Given the description of an element on the screen output the (x, y) to click on. 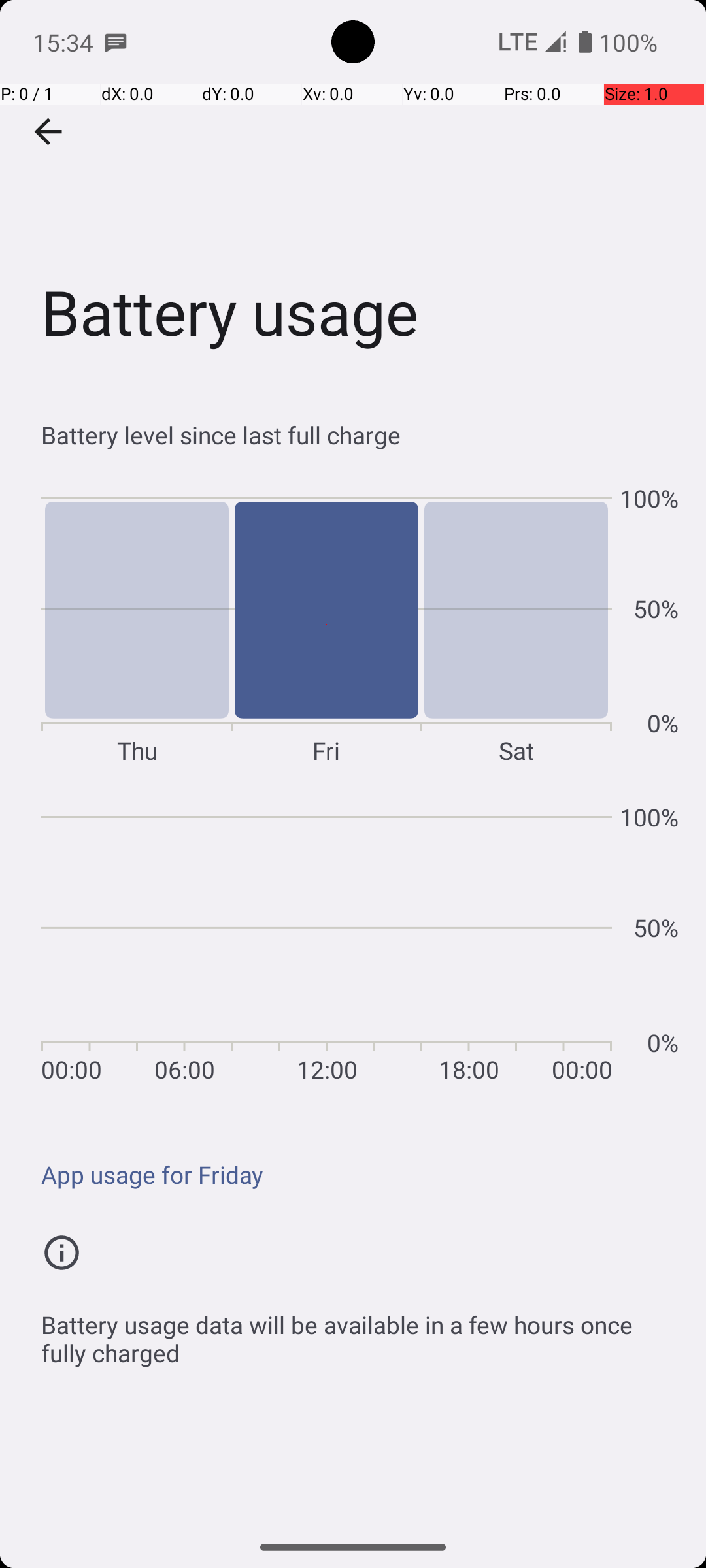
Battery level since last full charge Element type: android.widget.TextView (359, 434)
App usage for Friday Element type: android.widget.TextView (359, 1174)
Battery usage data will be available in a few hours once fully charged Element type: android.widget.TextView (359, 1331)
Saturday Element type: android.widget.ImageView (515, 624)
00:00-02:00 Element type: android.widget.ImageView (65, 943)
02:00-04:00 Element type: android.widget.ImageView (113, 943)
04:00-06:00 Element type: android.widget.ImageView (160, 943)
06:00-08:00 Element type: android.widget.ImageView (207, 943)
08:00-10:00 Element type: android.widget.ImageView (255, 943)
10:00-12:00 Element type: android.widget.ImageView (302, 943)
12:00-14:00 Element type: android.widget.ImageView (350, 943)
14:00-16:00 Element type: android.widget.ImageView (397, 943)
16:00-18:00 Element type: android.widget.ImageView (445, 943)
18:00-20:00 Element type: android.widget.ImageView (492, 943)
20:00-22:00 Element type: android.widget.ImageView (539, 943)
22:00-00:00 Element type: android.widget.ImageView (586, 943)
